Given the description of an element on the screen output the (x, y) to click on. 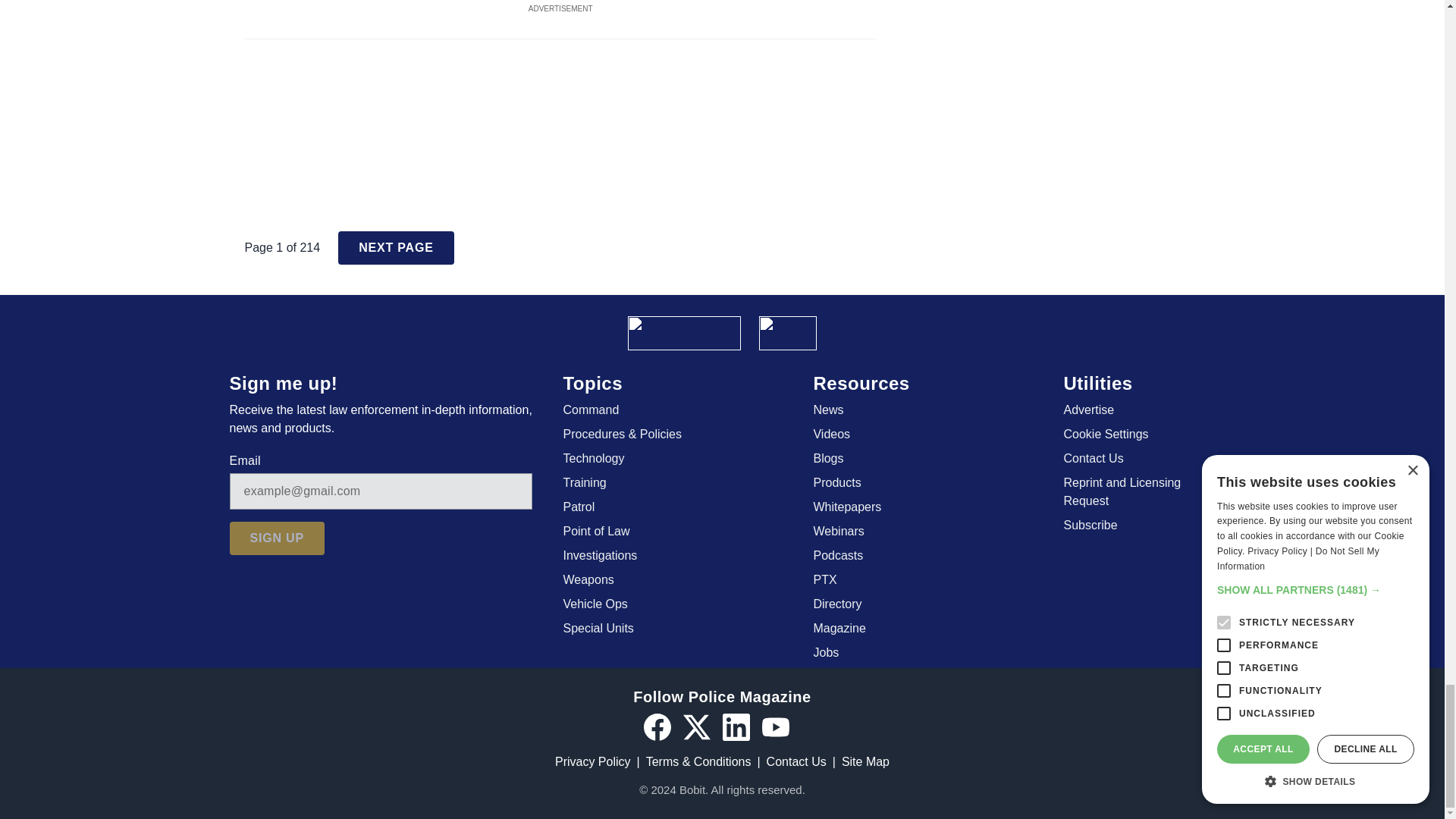
LinkedIn icon (735, 727)
Facebook icon (656, 727)
Twitter X icon (696, 727)
YouTube icon (775, 727)
